Given the description of an element on the screen output the (x, y) to click on. 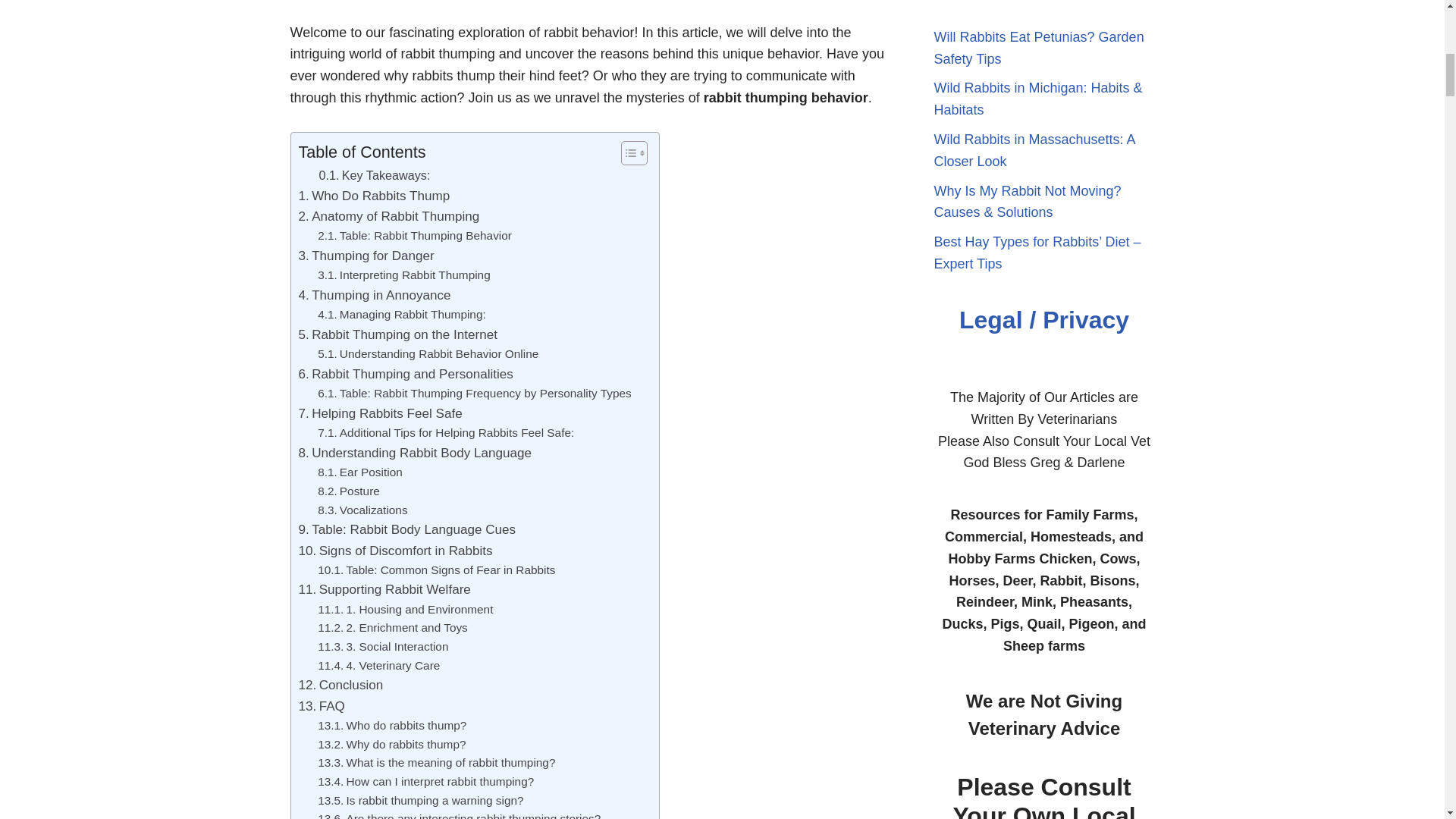
Table: Rabbit Thumping Behavior (414, 235)
Key Takeaways: (373, 175)
Thumping for Danger (365, 255)
Interpreting Rabbit Thumping (403, 275)
Ear Position (360, 472)
Thumping in Annoyance (374, 295)
Rabbit Thumping and Personalities (405, 373)
Managing Rabbit Thumping: (401, 314)
Understanding Rabbit Behavior Online (427, 353)
Who Do Rabbits Thump (373, 195)
